Given the description of an element on the screen output the (x, y) to click on. 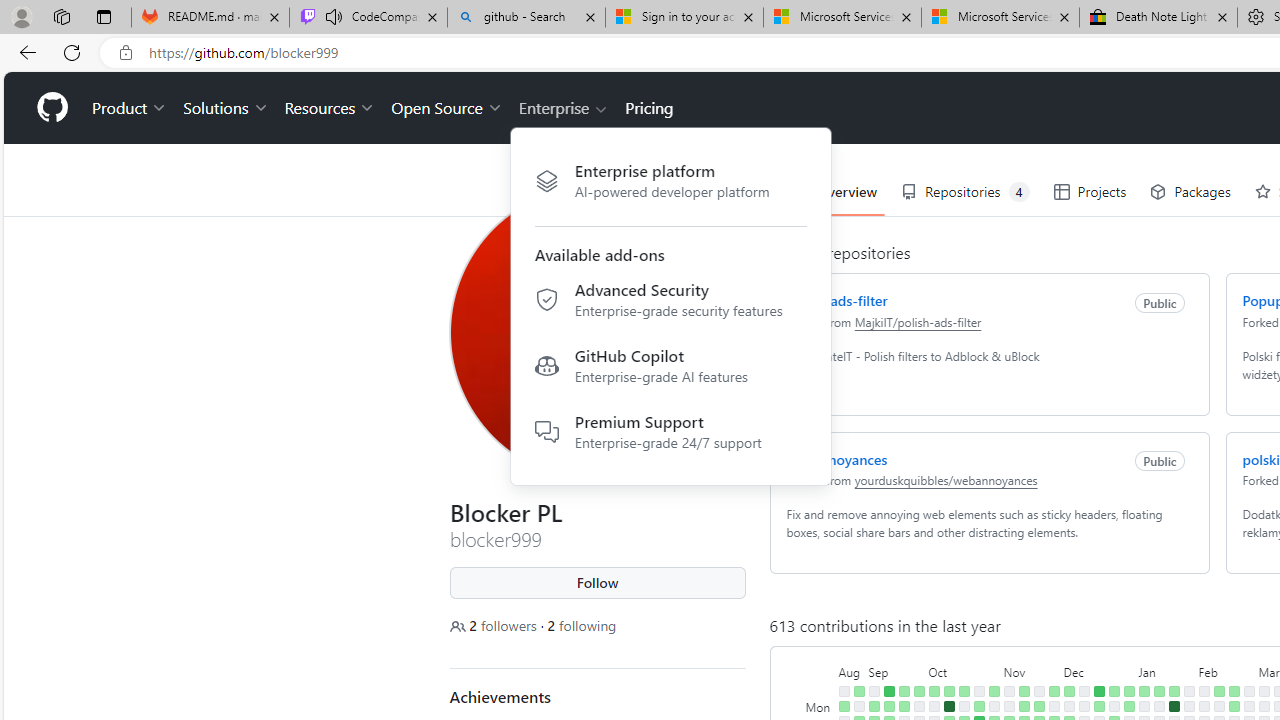
2 contributions on September 24th. (918, 691)
2 followers  (495, 625)
No contributions on January 28th. (1188, 691)
1 contribution on November 26th. (1053, 691)
January (1166, 670)
Mute tab (333, 16)
Personal Profile (21, 16)
View site information (125, 53)
Overview (834, 192)
Sign in to your account (683, 17)
Enterprise platformAI-powered developer platform (669, 180)
2 contributions on October 8th. (948, 691)
No contributions on October 2nd. (933, 706)
